Given the description of an element on the screen output the (x, y) to click on. 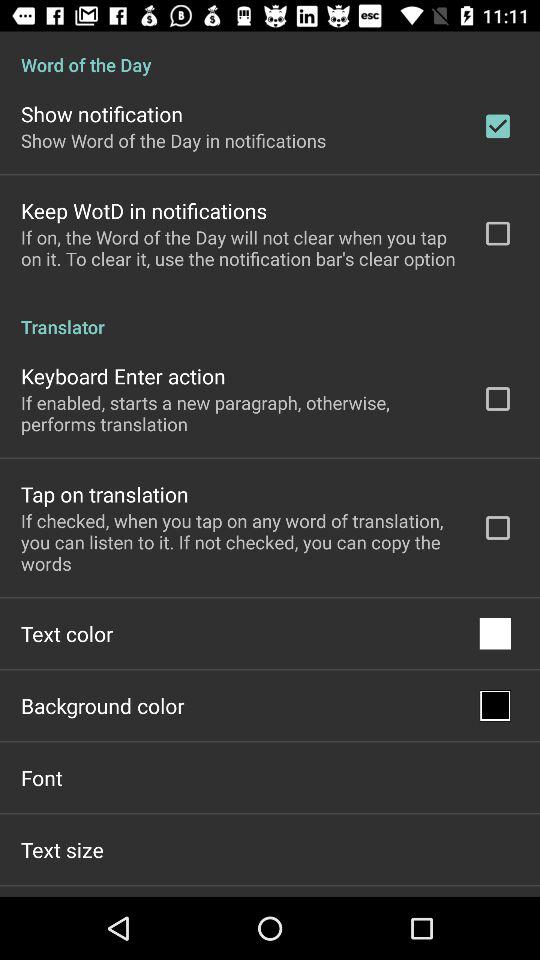
flip until font app (41, 777)
